Given the description of an element on the screen output the (x, y) to click on. 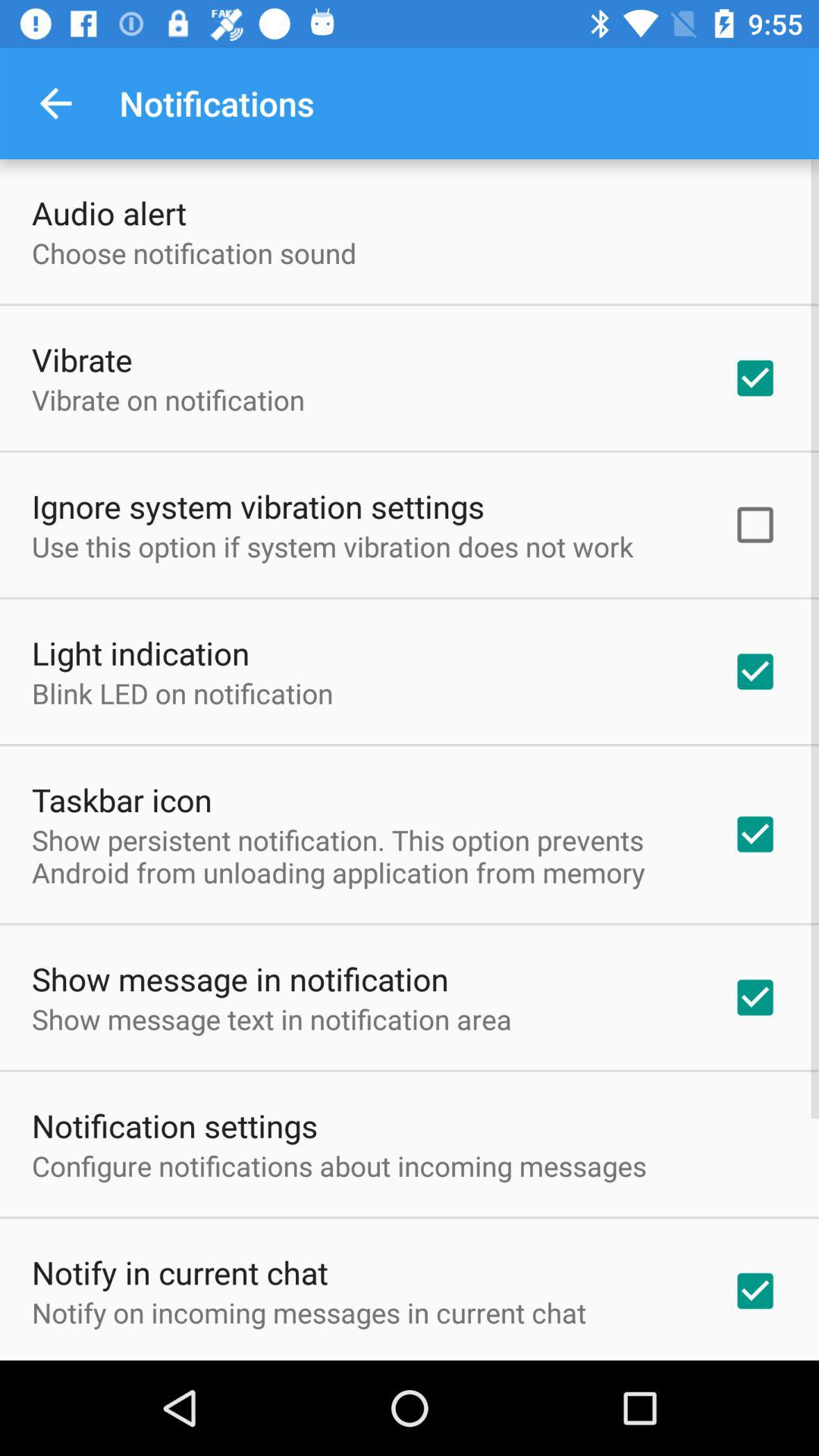
jump to light indication icon (140, 652)
